Given the description of an element on the screen output the (x, y) to click on. 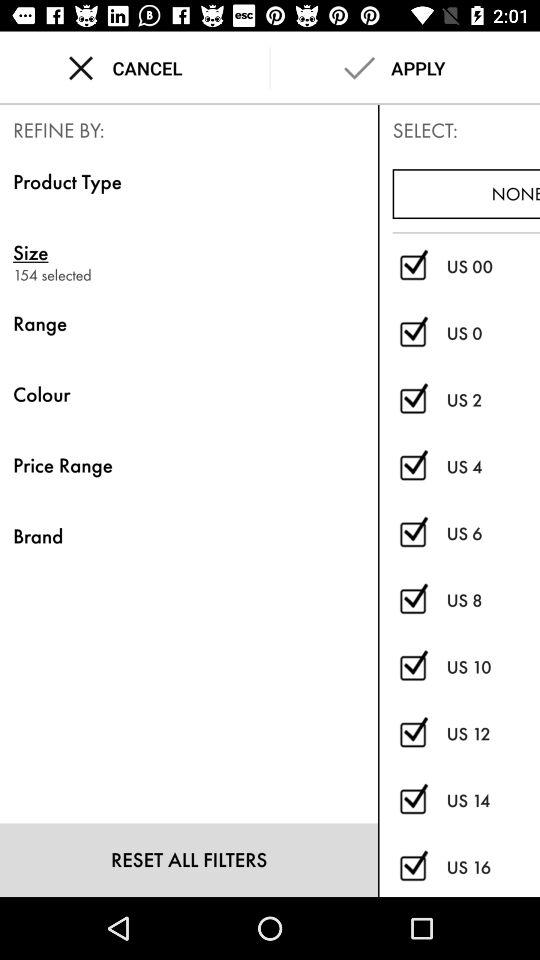
toggle us 00 (412, 266)
